Given the description of an element on the screen output the (x, y) to click on. 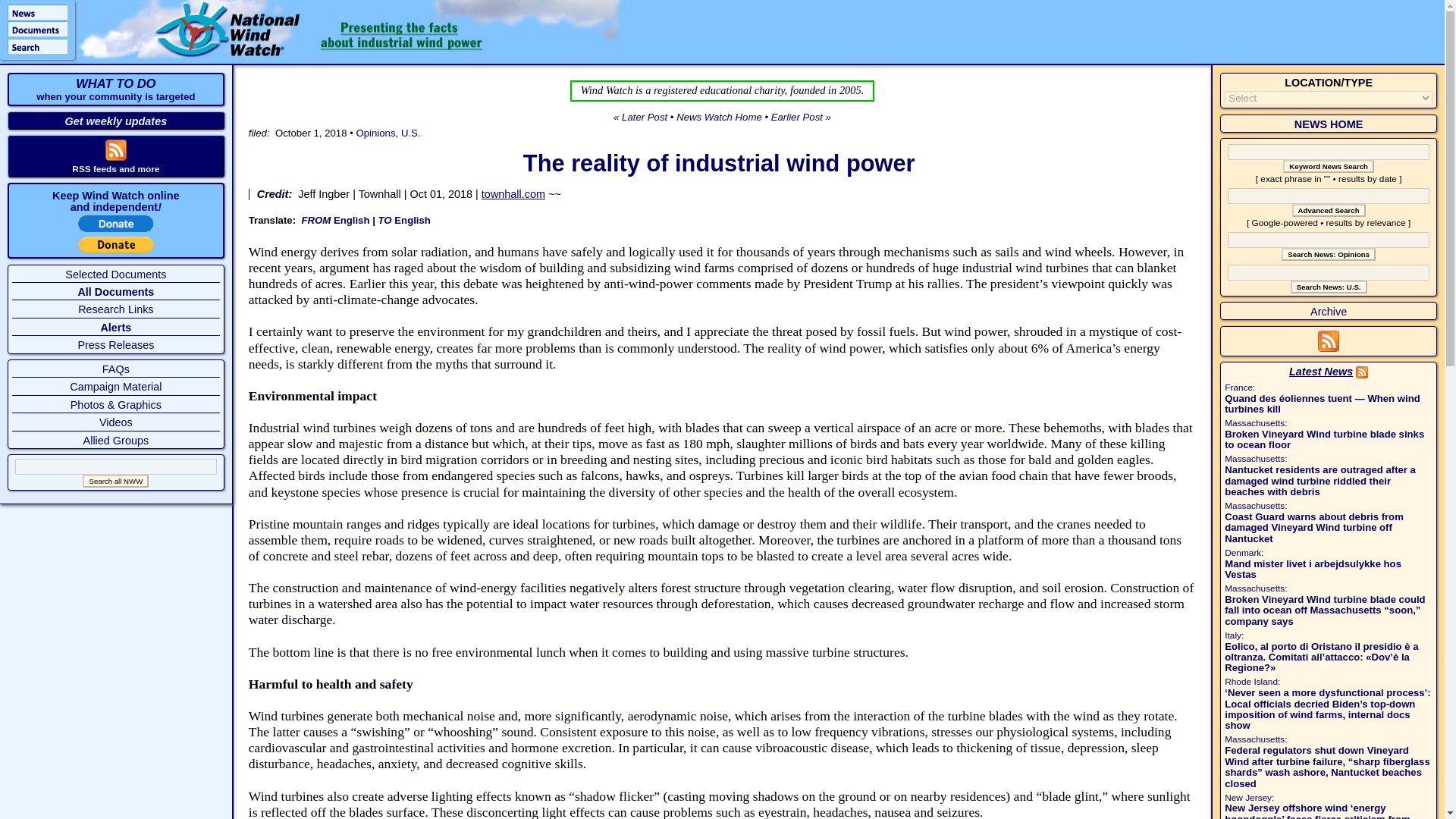
Latest News (1320, 371)
Massachusetts (1254, 458)
Broken Vineyard Wind turbine blade sinks to ocean floor (1323, 439)
Search News: U.S. (1328, 286)
Massachusetts (1254, 588)
Massachusetts (1254, 422)
Search all NWW (115, 481)
Keyword News Search (1328, 165)
Search News: U.S. (1328, 286)
Italy (1232, 634)
Advanced Search (1328, 210)
Search all NWW (115, 481)
Search News: Opinions (1328, 254)
Advanced Search (1328, 210)
Wind Watch News Feeds (1328, 347)
